Given the description of an element on the screen output the (x, y) to click on. 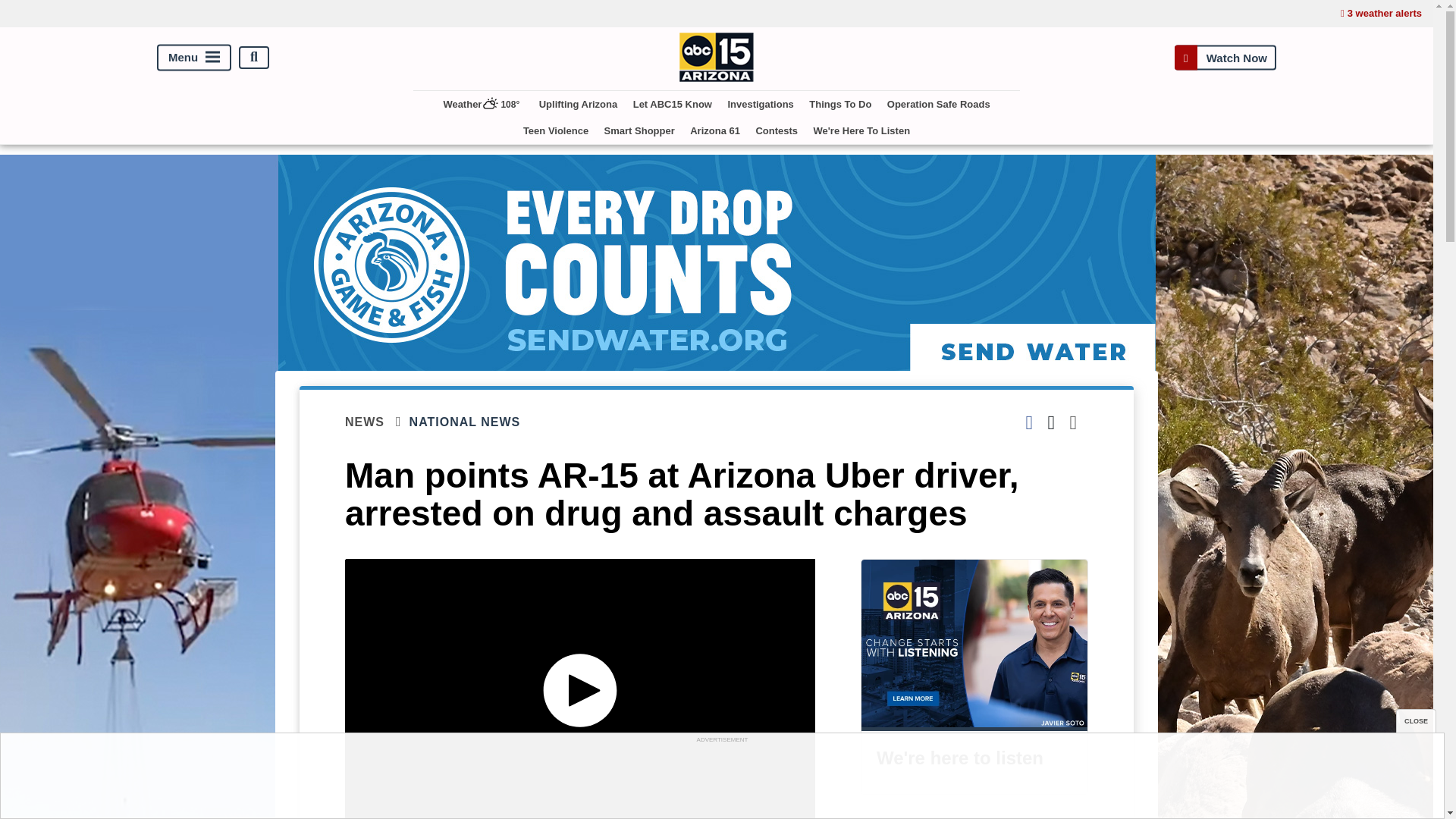
Watch Now (1224, 56)
3rd party ad content (721, 780)
Menu (194, 57)
